Given the description of an element on the screen output the (x, y) to click on. 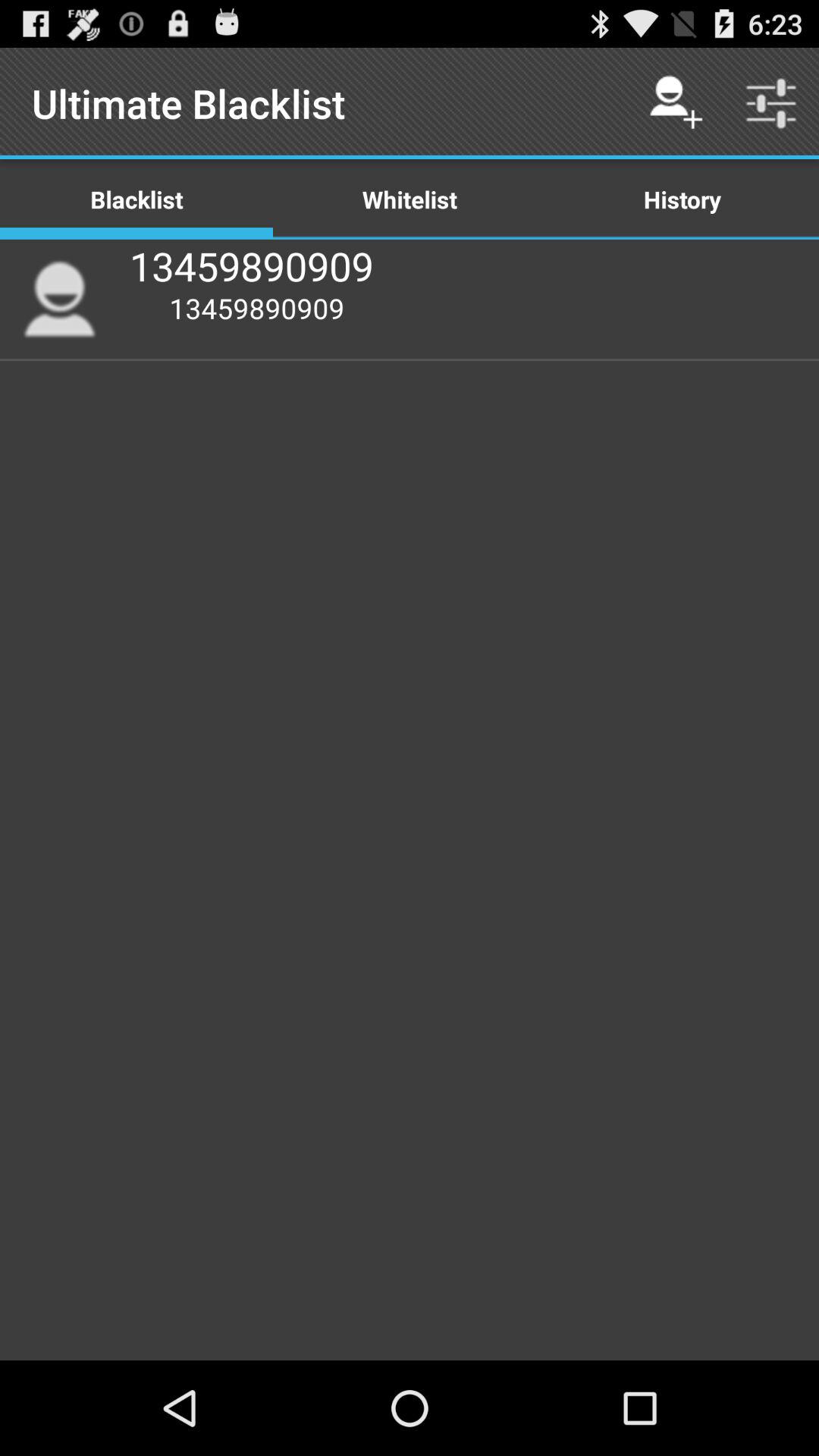
swipe until the history icon (682, 199)
